Given the description of an element on the screen output the (x, y) to click on. 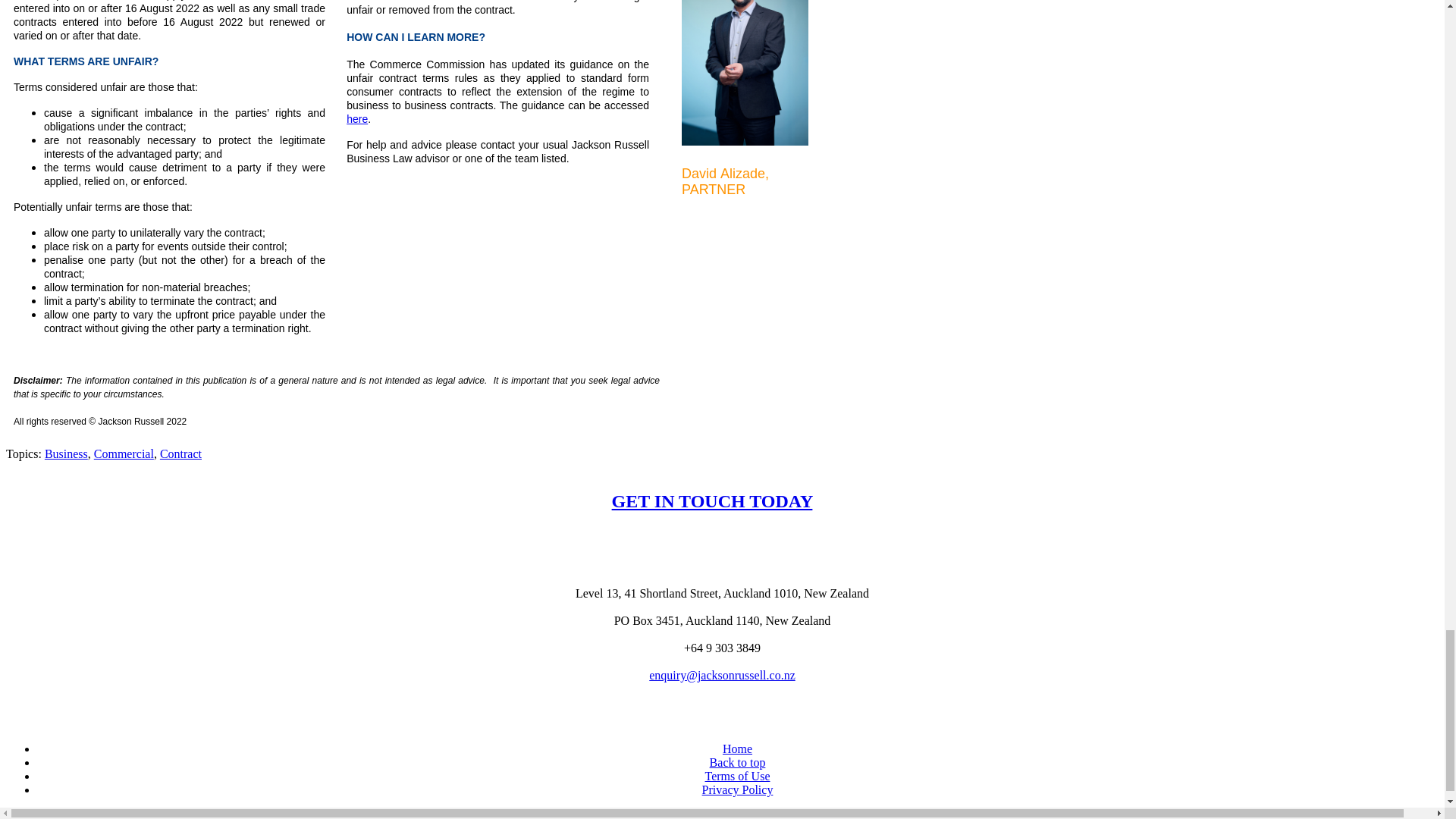
Linkedin Circle-26 (721, 710)
